Given the description of an element on the screen output the (x, y) to click on. 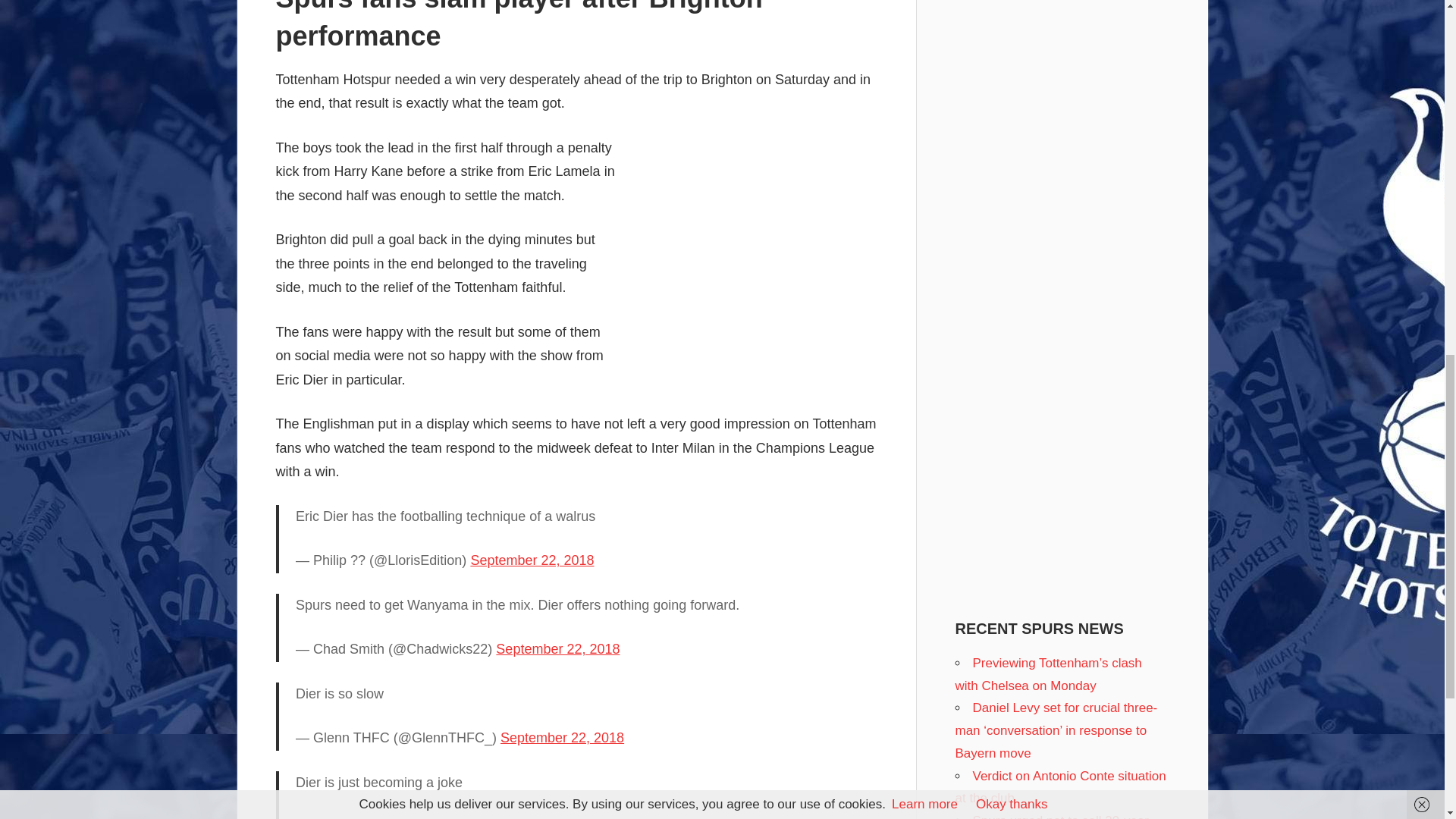
September 22, 2018 (558, 648)
Verdict on Antonio Conte situation at the club (1060, 787)
Spurs urged not to sell 29-year-old star forward (1054, 816)
September 22, 2018 (562, 737)
September 22, 2018 (532, 560)
Advertisement (750, 248)
